Given the description of an element on the screen output the (x, y) to click on. 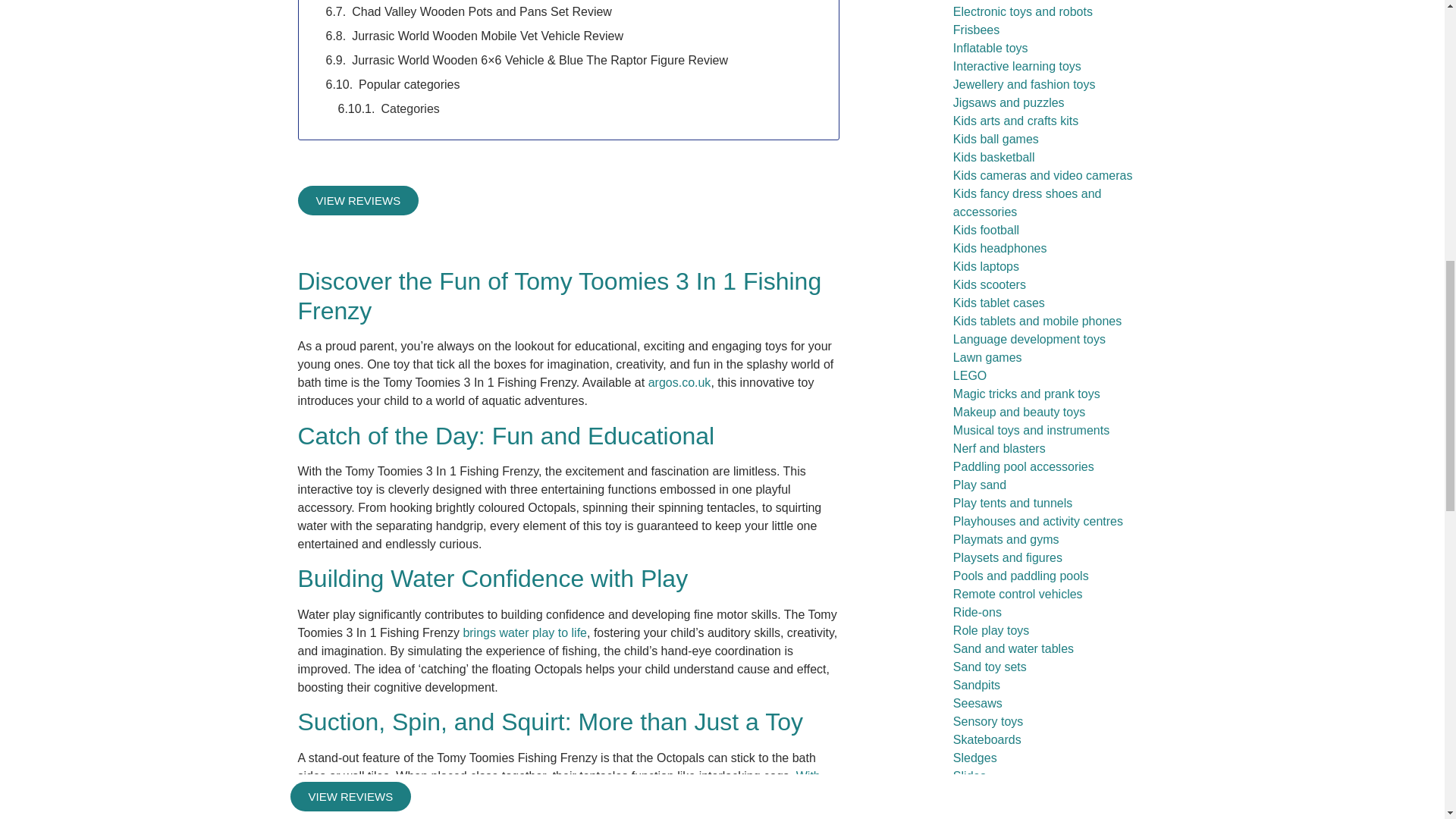
With just a blast of water (558, 784)
brings water play to life (524, 632)
VIEW REVIEWS (358, 200)
Chad Valley Wooden Pots and Pans Set Review (481, 12)
Jurrasic World Wooden Mobile Vet Vehicle Review (487, 36)
Popular categories (409, 85)
argos.co.uk (679, 382)
Categories (409, 108)
